Given the description of an element on the screen output the (x, y) to click on. 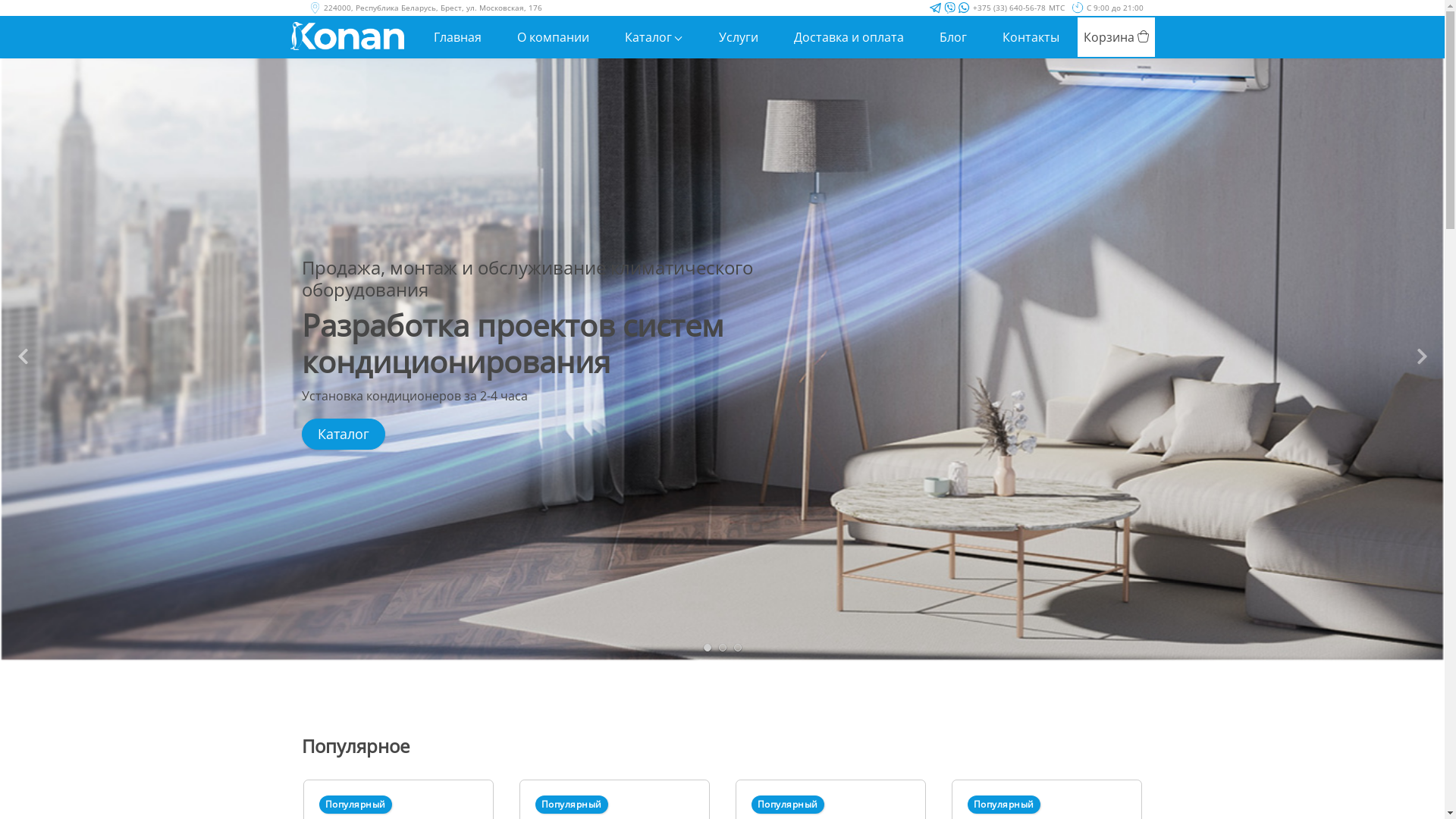
+375 (33) 640-56-78 Element type: text (1008, 7)
